Given the description of an element on the screen output the (x, y) to click on. 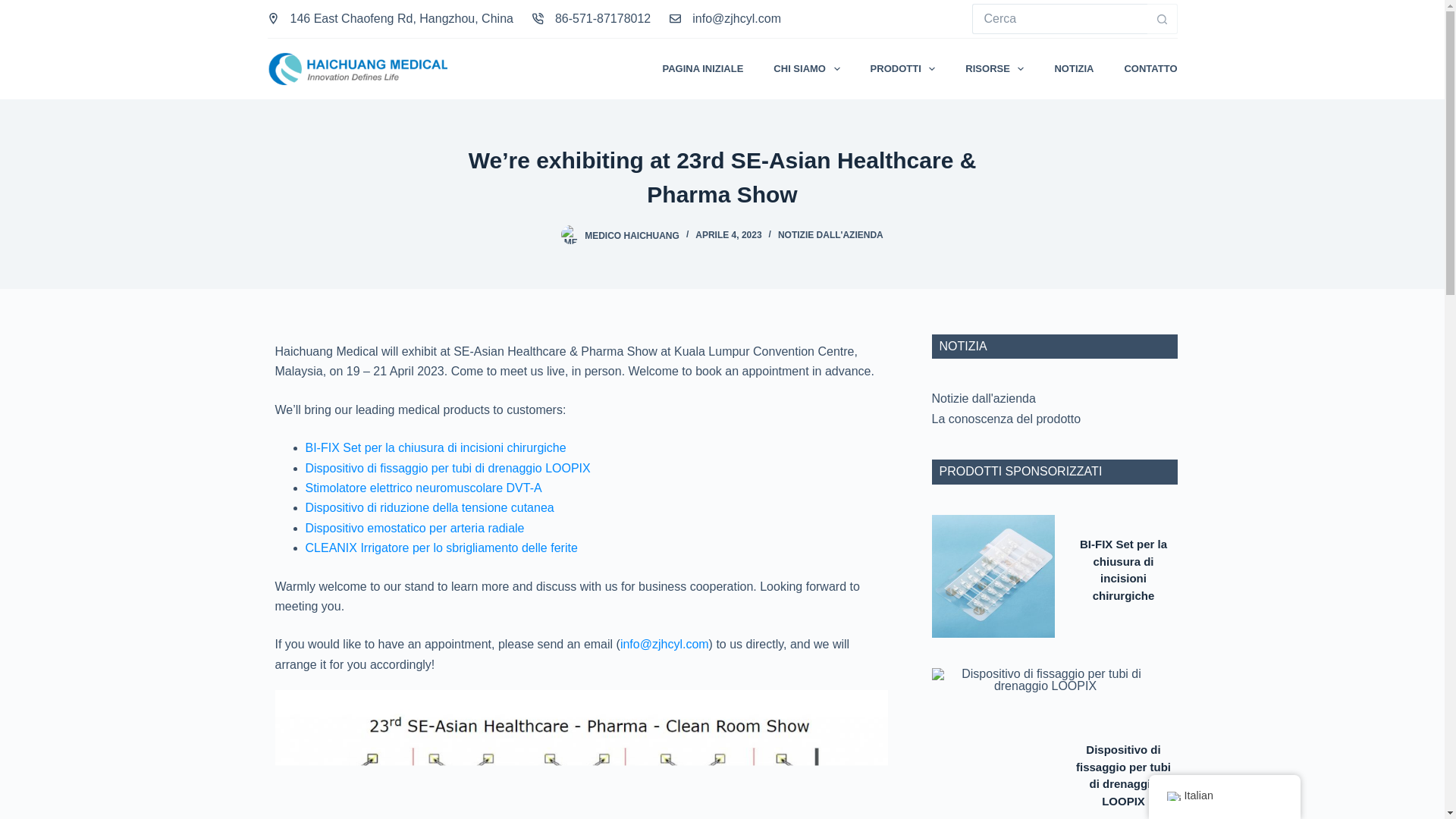
Cerca per... (1059, 19)
Articoli scritti da Haichuang Medical (632, 235)
Italian (1172, 795)
Salta al contenuto (15, 7)
